Given the description of an element on the screen output the (x, y) to click on. 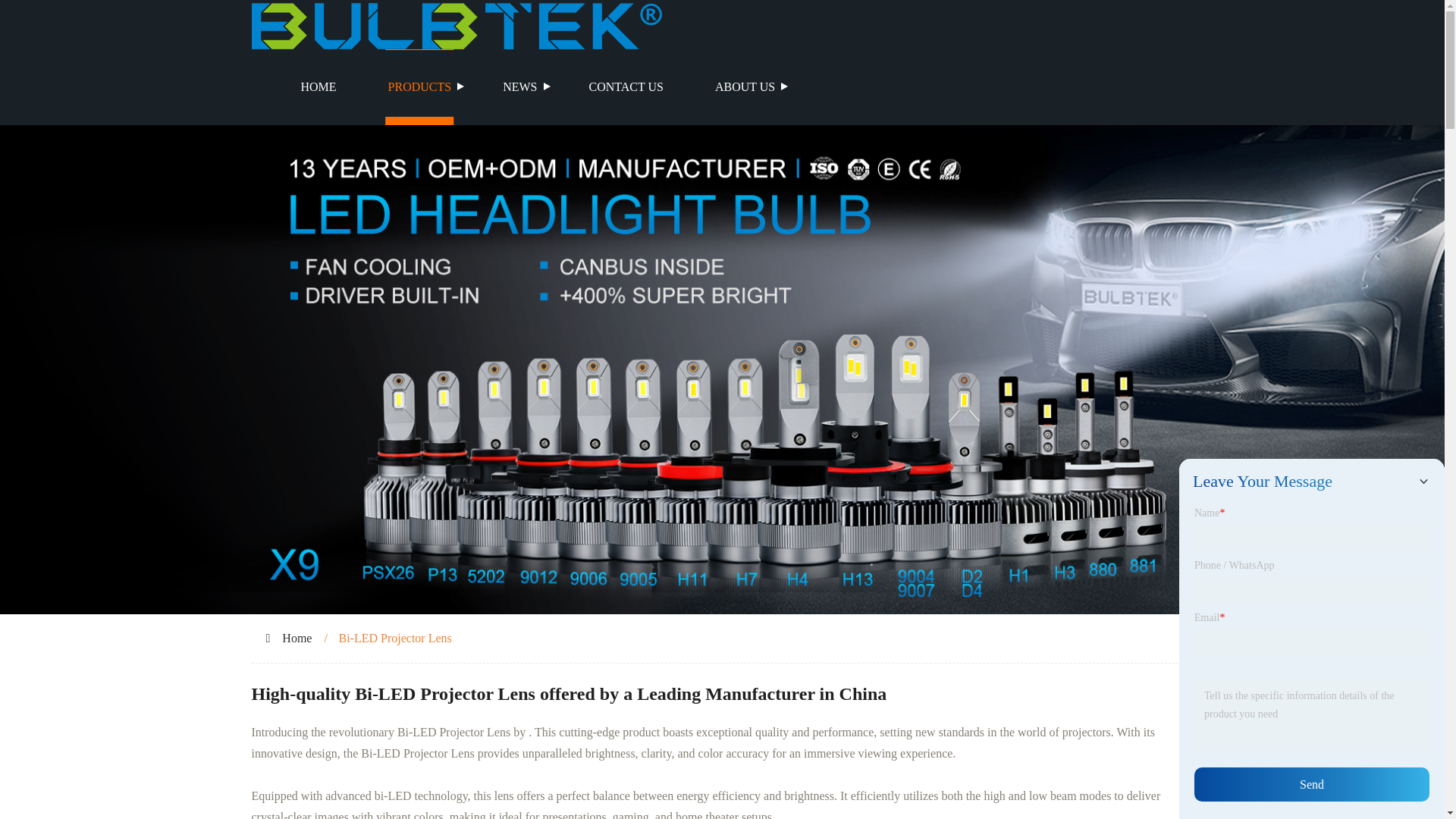
HOME (318, 87)
PRODUCTS (419, 87)
Home (296, 637)
ABOUT US (745, 87)
CONTACT US (625, 87)
NEWS (519, 87)
